Given the description of an element on the screen output the (x, y) to click on. 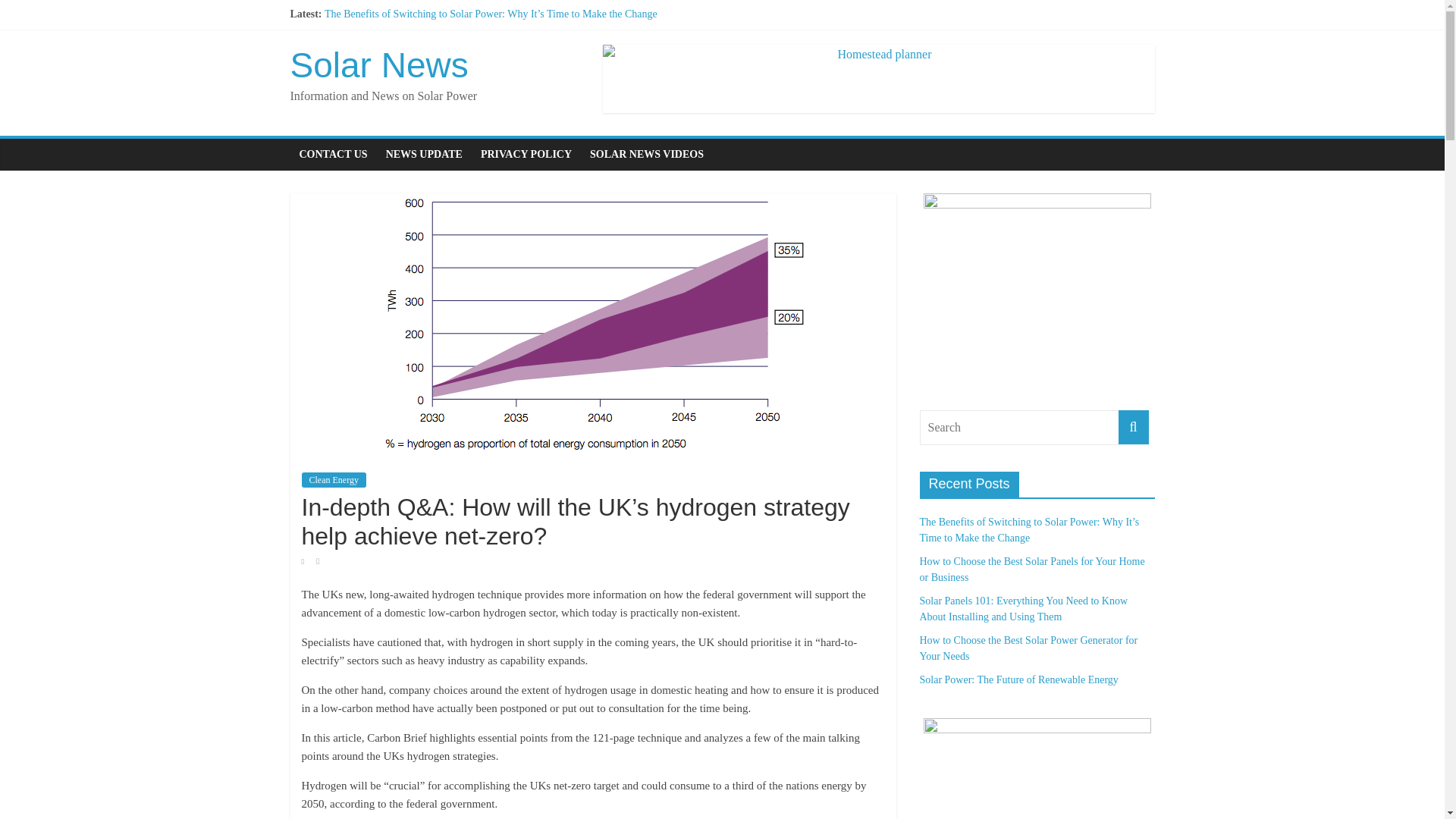
Clean Energy (333, 479)
Solar News (378, 65)
SOLAR NEWS VIDEOS (646, 154)
Solar Power: The Future of Renewable Energy (423, 81)
